Given the description of an element on the screen output the (x, y) to click on. 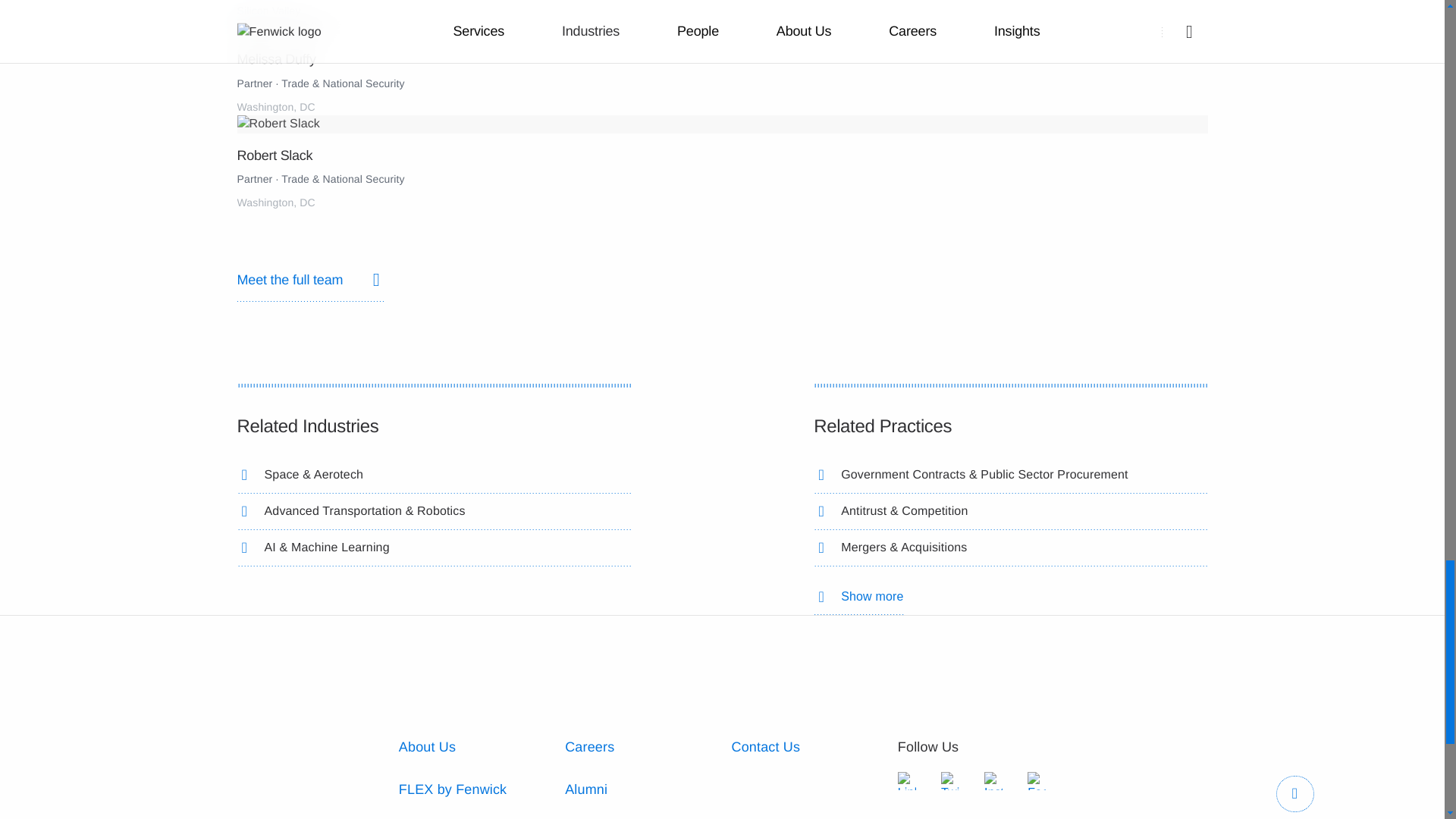
Alumni (585, 789)
Careers (589, 746)
FLEX by Fenwick (452, 789)
About Us (426, 746)
Contact Us (764, 746)
